Given the description of an element on the screen output the (x, y) to click on. 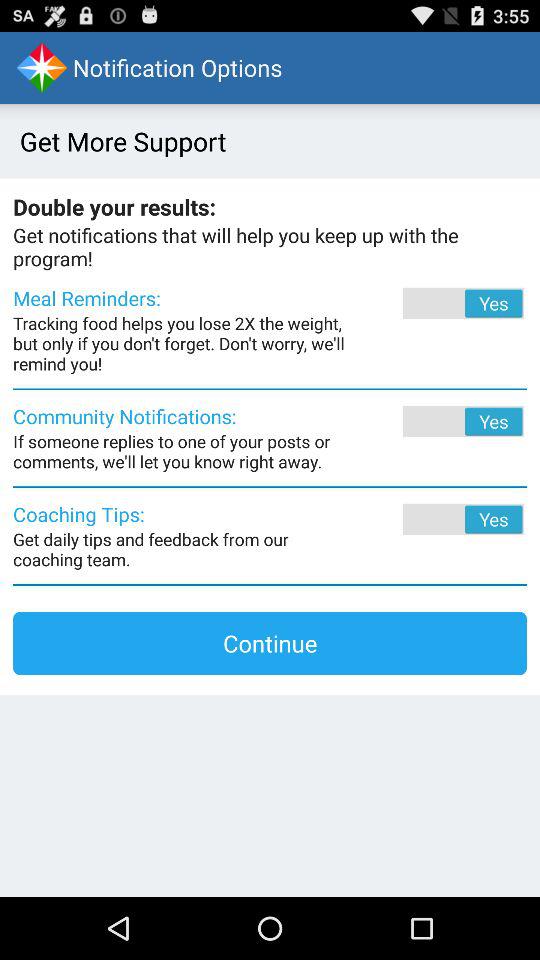
toggle community notifications (436, 421)
